Given the description of an element on the screen output the (x, y) to click on. 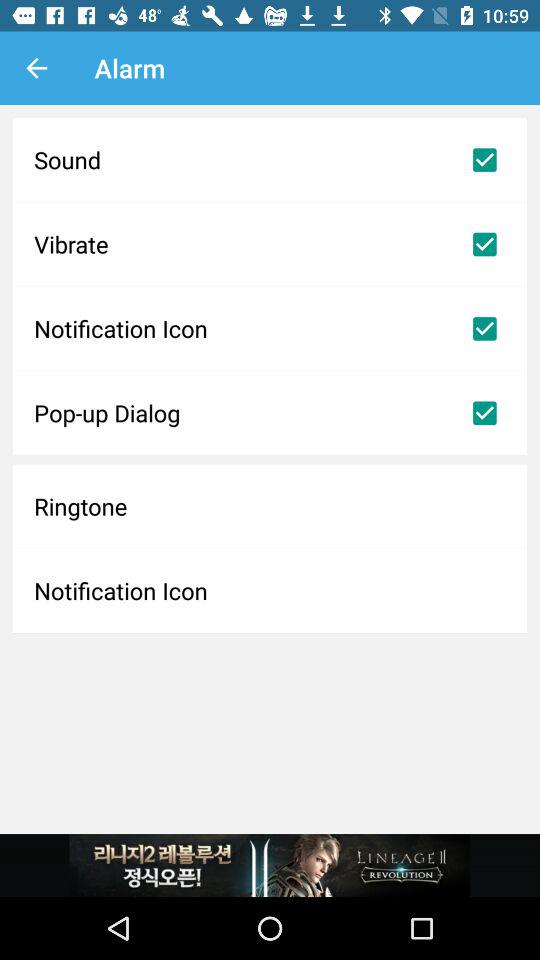
open icon below notification icon (269, 413)
